Given the description of an element on the screen output the (x, y) to click on. 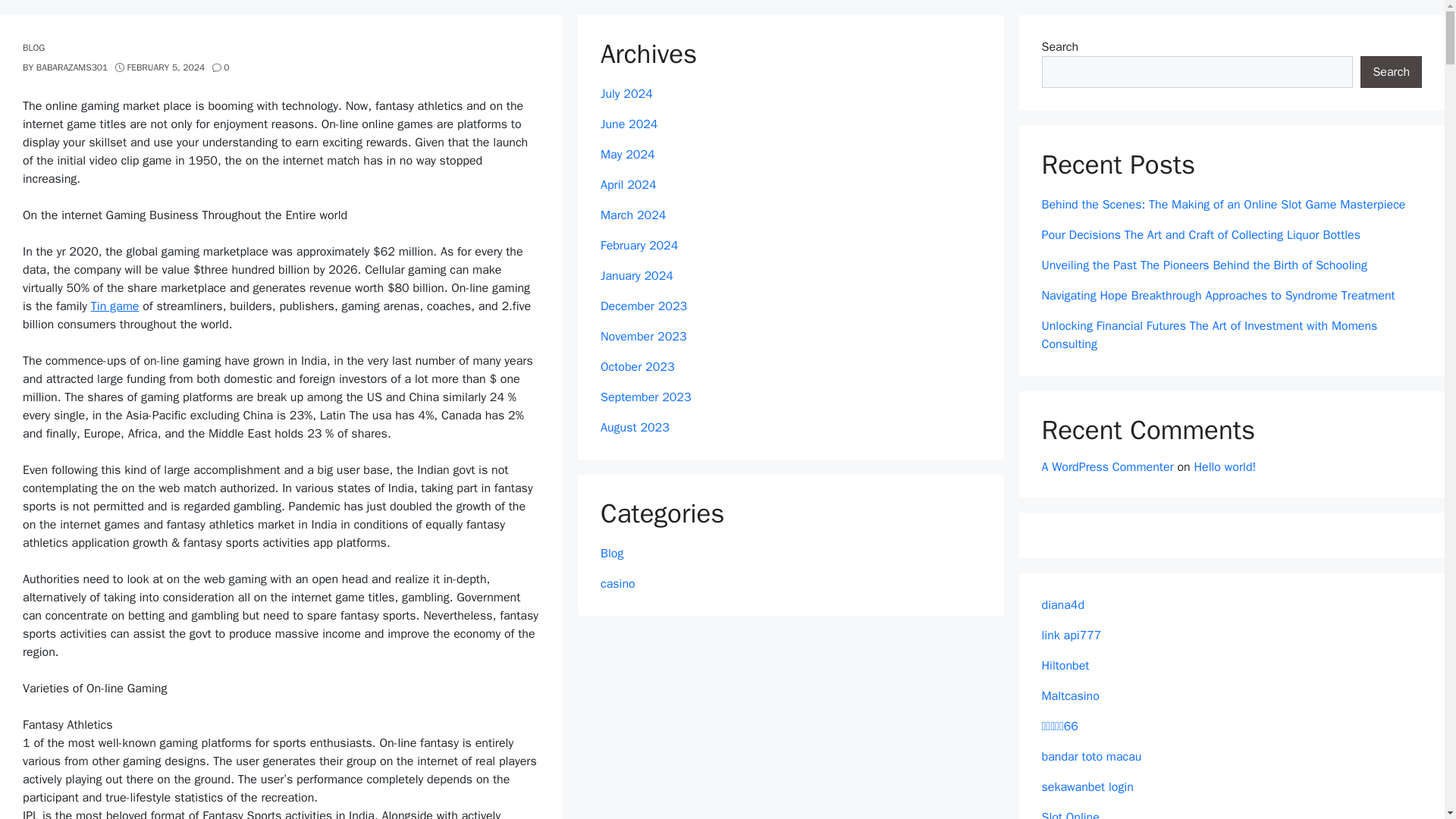
A WordPress Commenter (1107, 467)
March 2024 (632, 215)
Tin game (114, 305)
July 2024 (625, 93)
Search (1390, 71)
May 2024 (627, 154)
Blog (611, 553)
0 (221, 67)
Hello world! (1224, 467)
BLOG (34, 47)
December 2023 (643, 305)
